Given the description of an element on the screen output the (x, y) to click on. 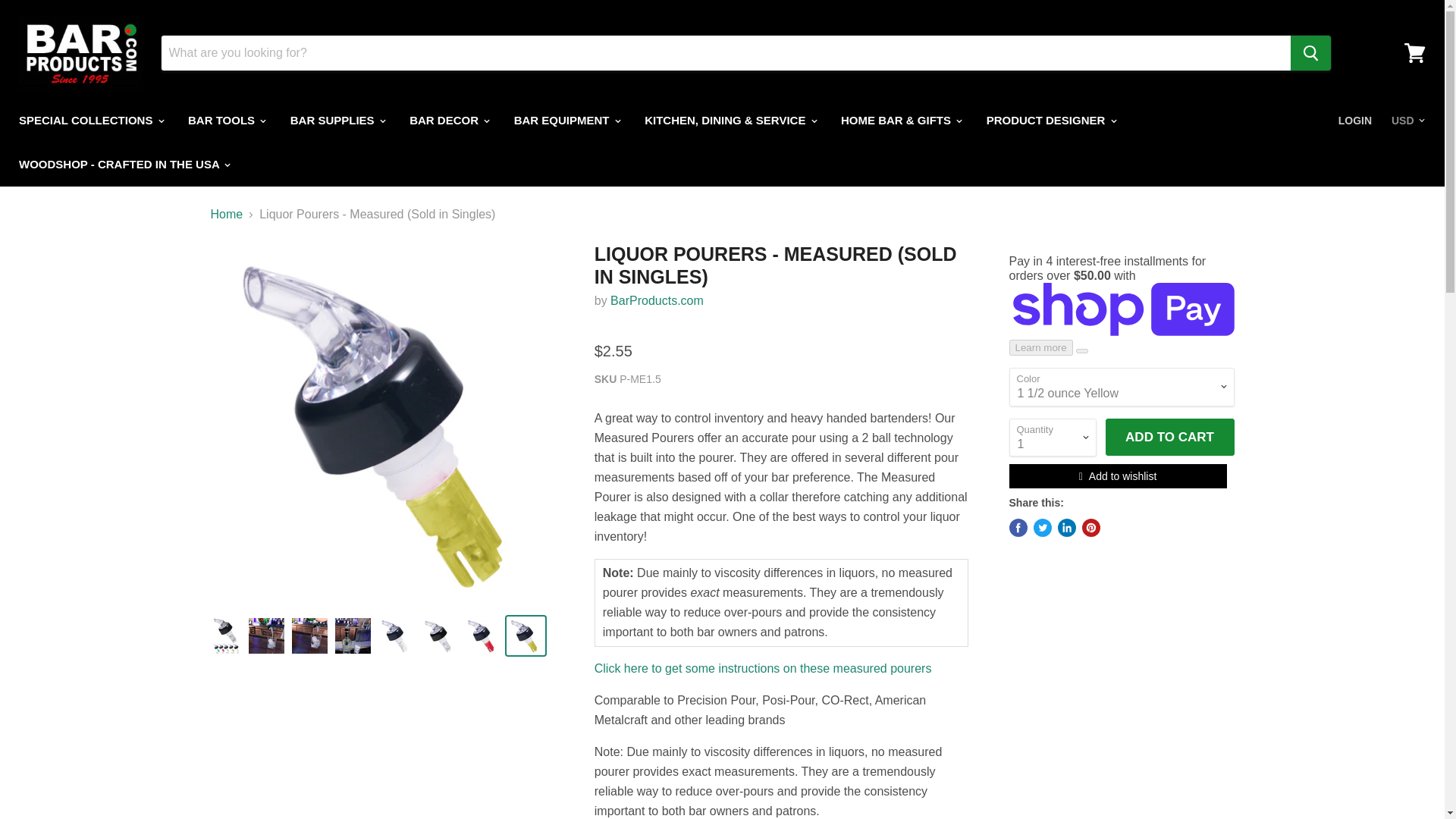
BarProducts.com (656, 300)
BAR TOOLS (225, 120)
SPECIAL COLLECTIONS (90, 120)
View cart (1414, 53)
